Given the description of an element on the screen output the (x, y) to click on. 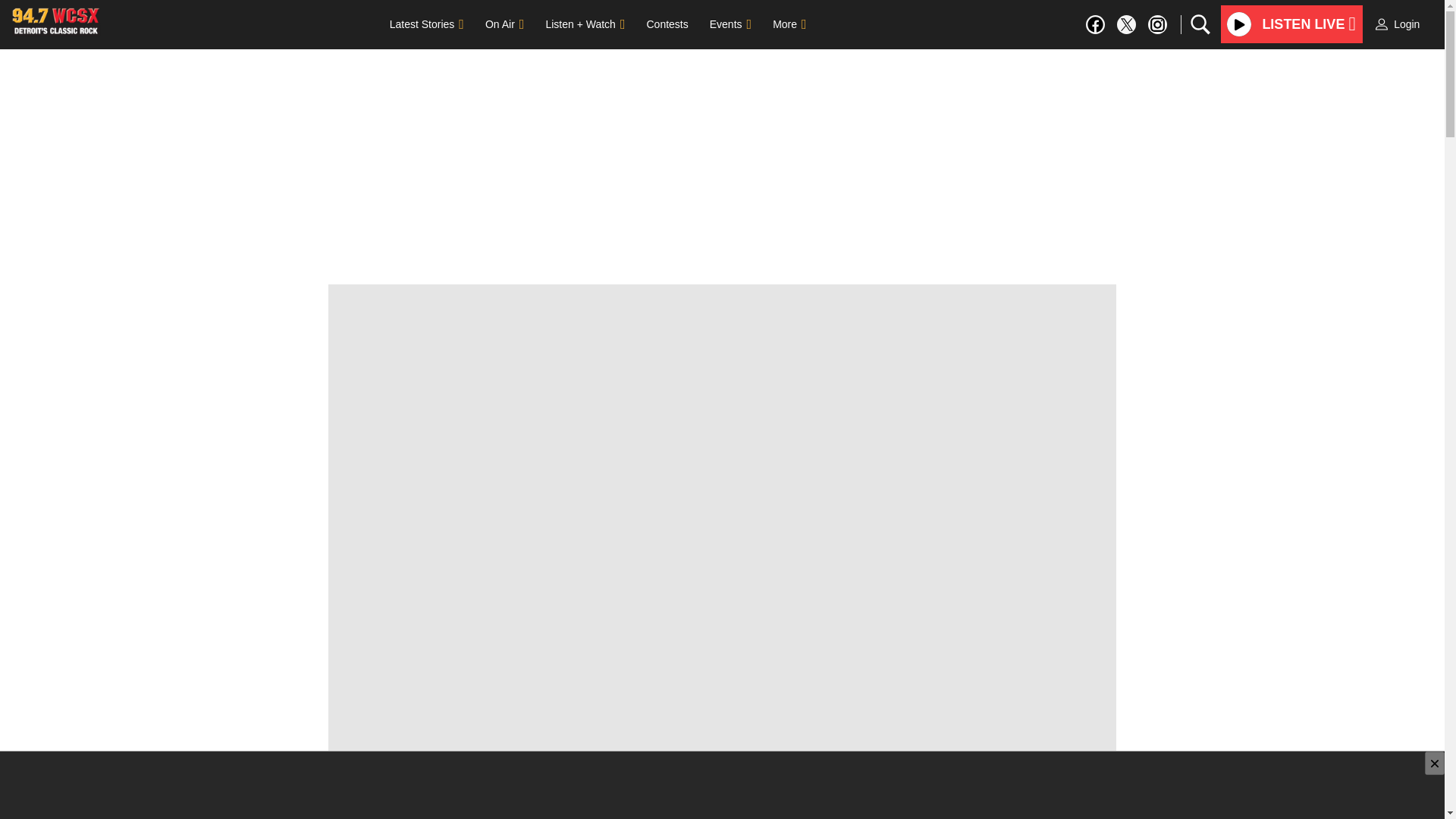
Close AdCheckmark indicating ad close (1434, 763)
On Air (504, 24)
Events (729, 24)
Latest Stories (426, 24)
Contests (666, 24)
